Given the description of an element on the screen output the (x, y) to click on. 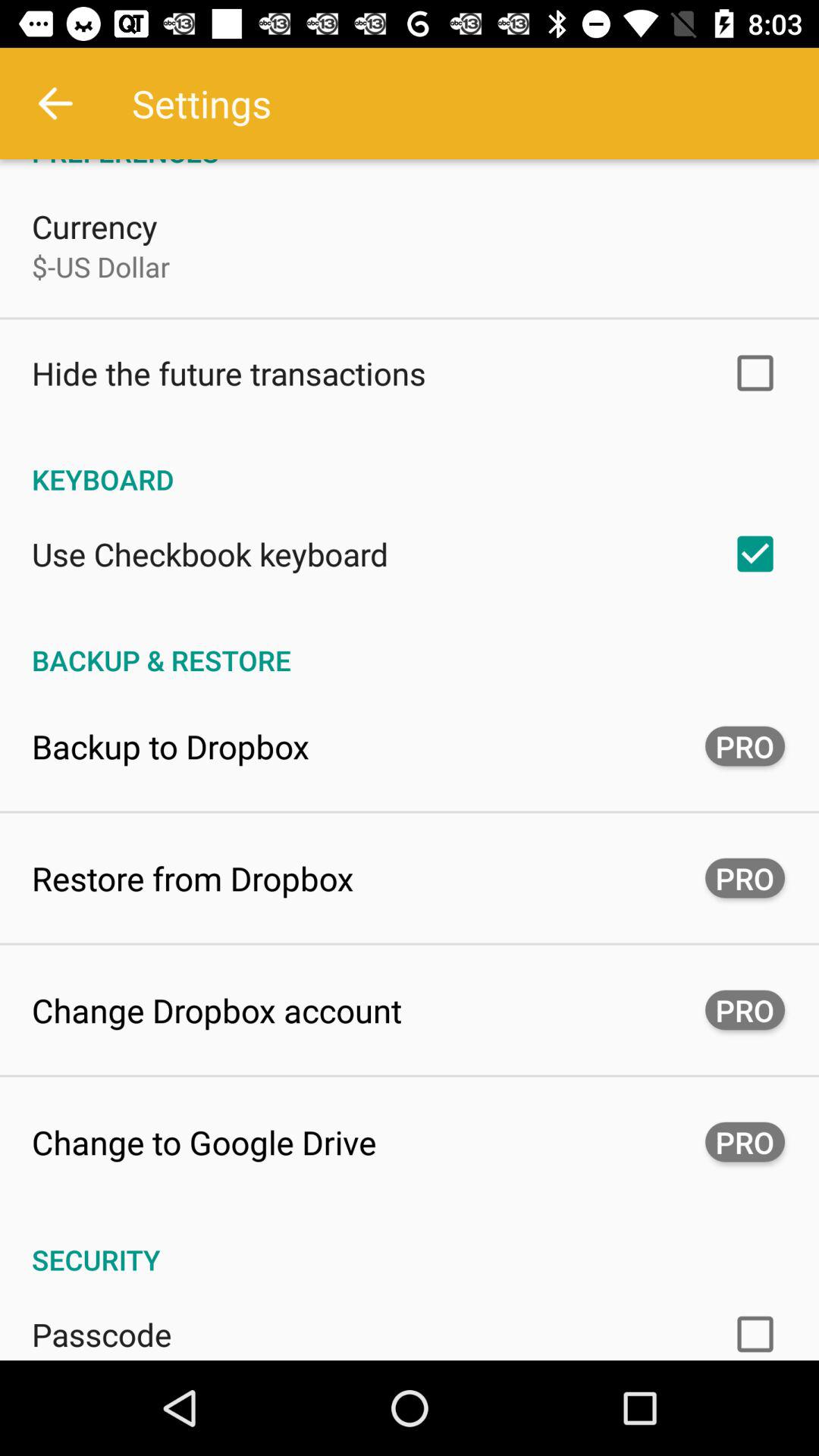
tap the backup to dropbox app (170, 746)
